Given the description of an element on the screen output the (x, y) to click on. 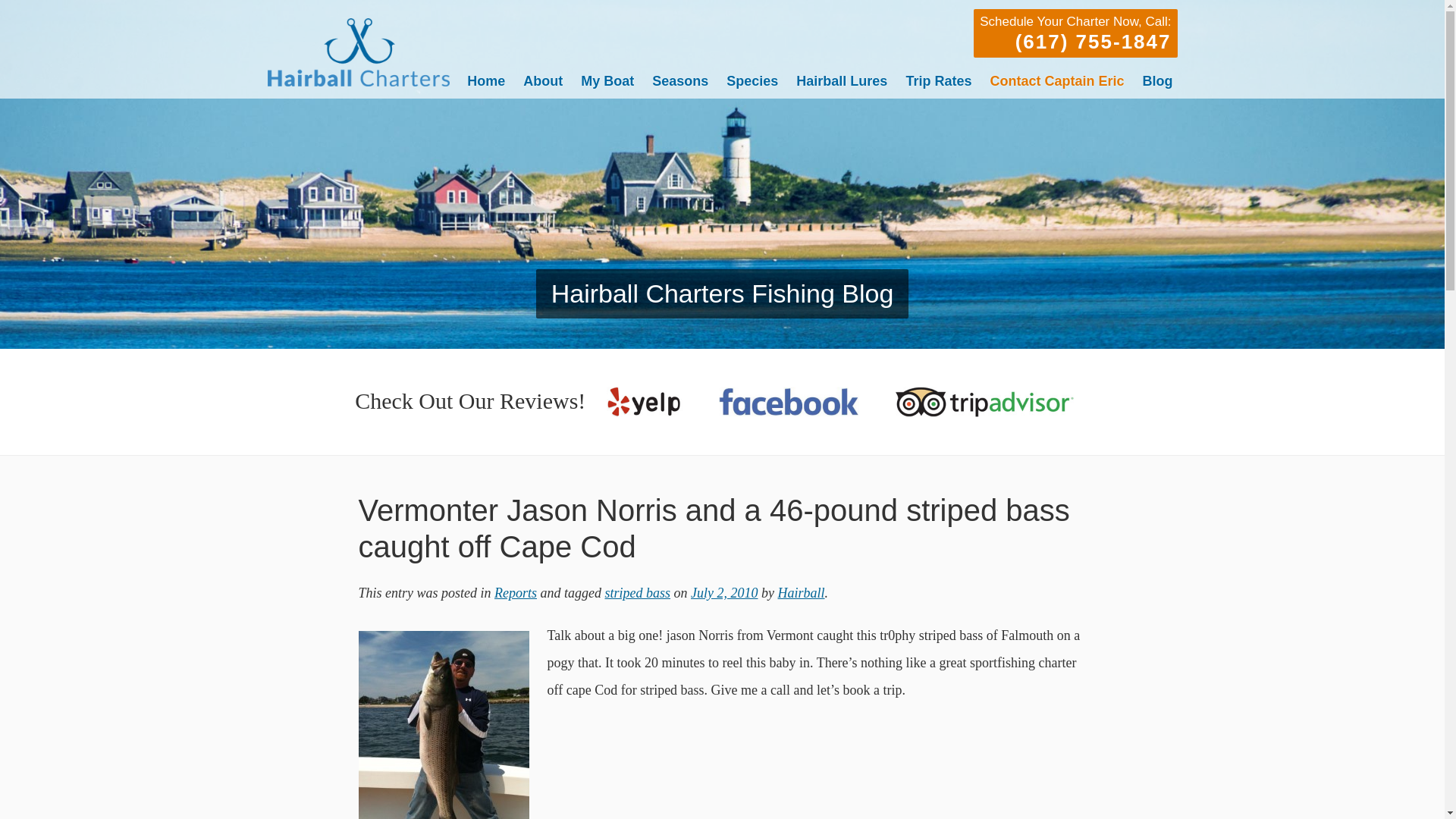
Home (486, 80)
7:46 pm (723, 592)
My Boat (607, 80)
Seasons (680, 80)
About (542, 80)
jason Norris and his 46 pound striped bass (443, 724)
View all posts by Hairball (801, 592)
